Given the description of an element on the screen output the (x, y) to click on. 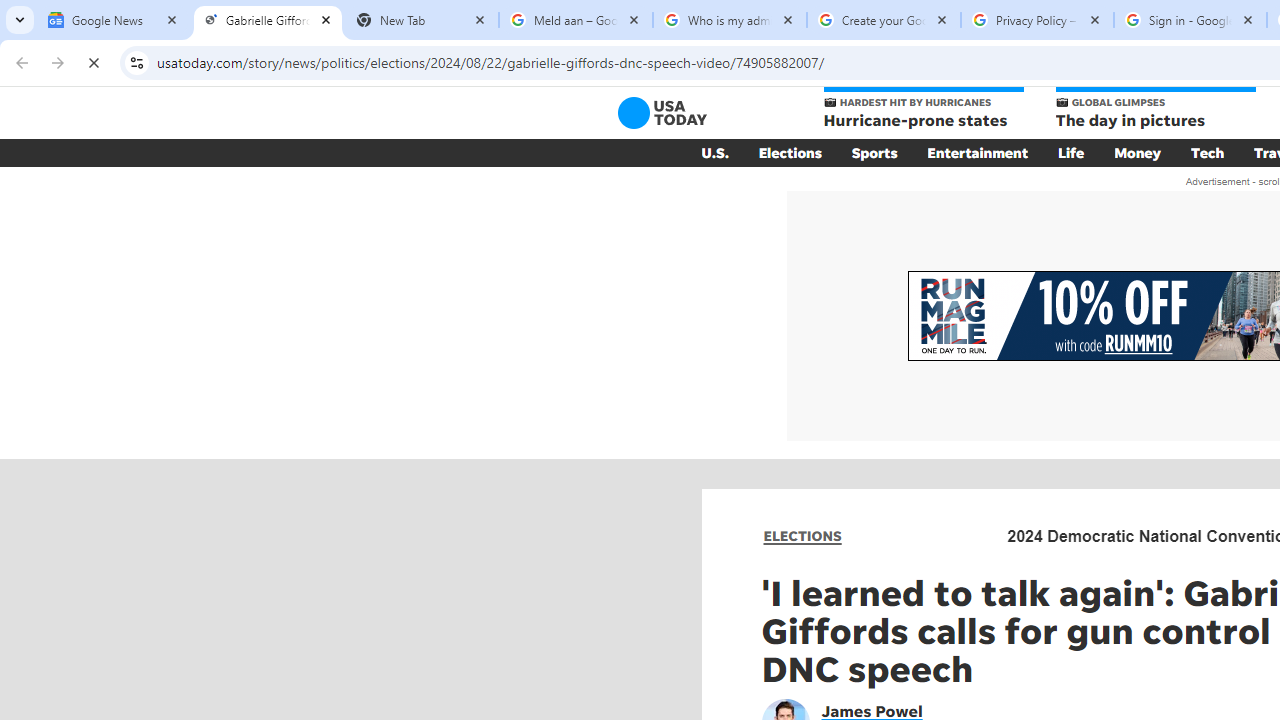
Sign in - Google Accounts (1190, 20)
Entertainment (977, 152)
Create your Google Account (883, 20)
U.S. (714, 152)
Who is my administrator? - Google Account Help (729, 20)
Tech (1207, 152)
New Tab (421, 20)
Sports (873, 152)
USA TODAY (661, 112)
